Given the description of an element on the screen output the (x, y) to click on. 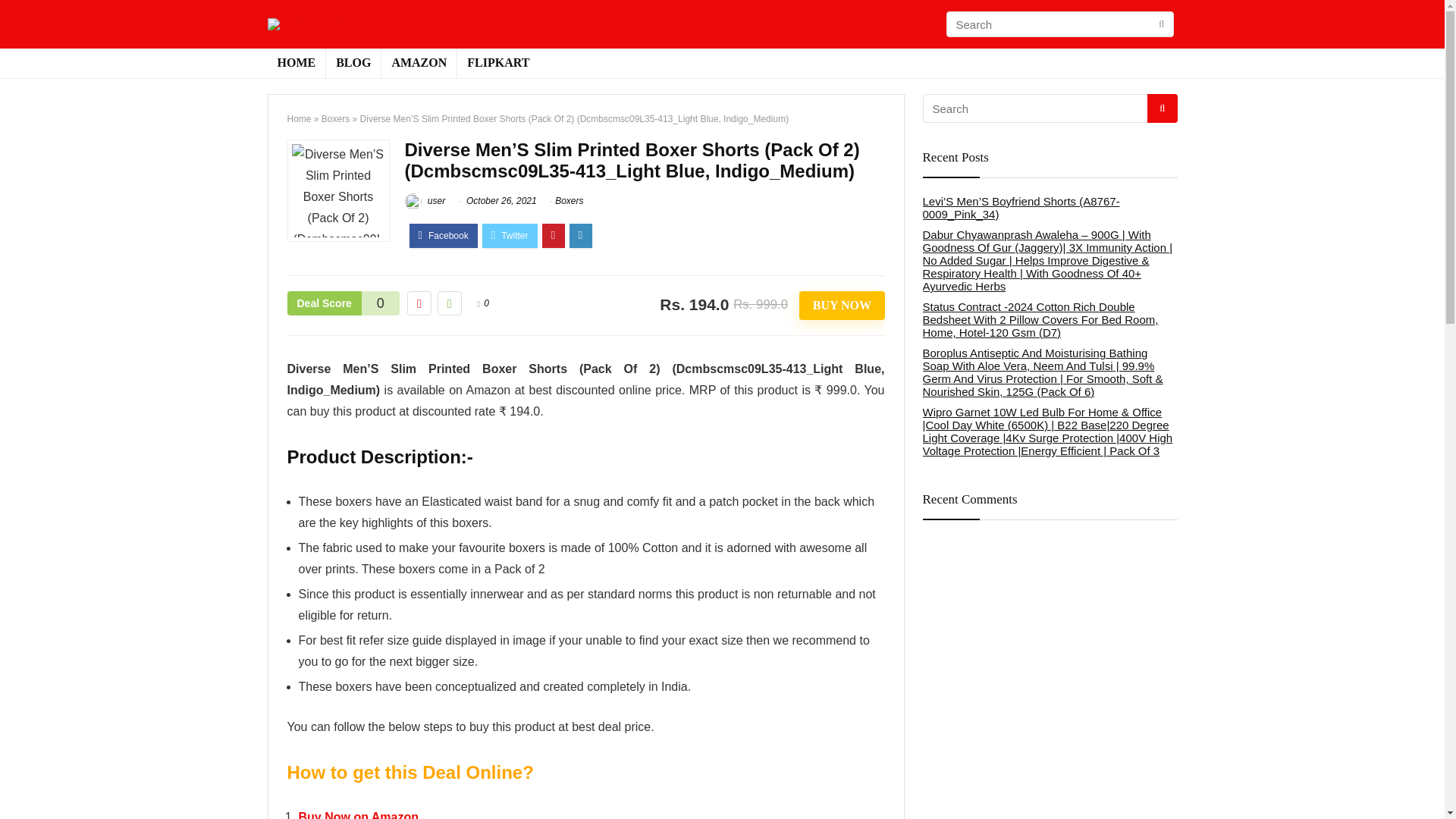
Buy Now on Amazon. (360, 814)
user (424, 200)
BUY NOW (841, 305)
Home (298, 118)
Boxers (568, 200)
HOME (295, 63)
FLIPKART (497, 63)
AMAZON (419, 63)
Vote up (449, 303)
Boxers (335, 118)
